Given the description of an element on the screen output the (x, y) to click on. 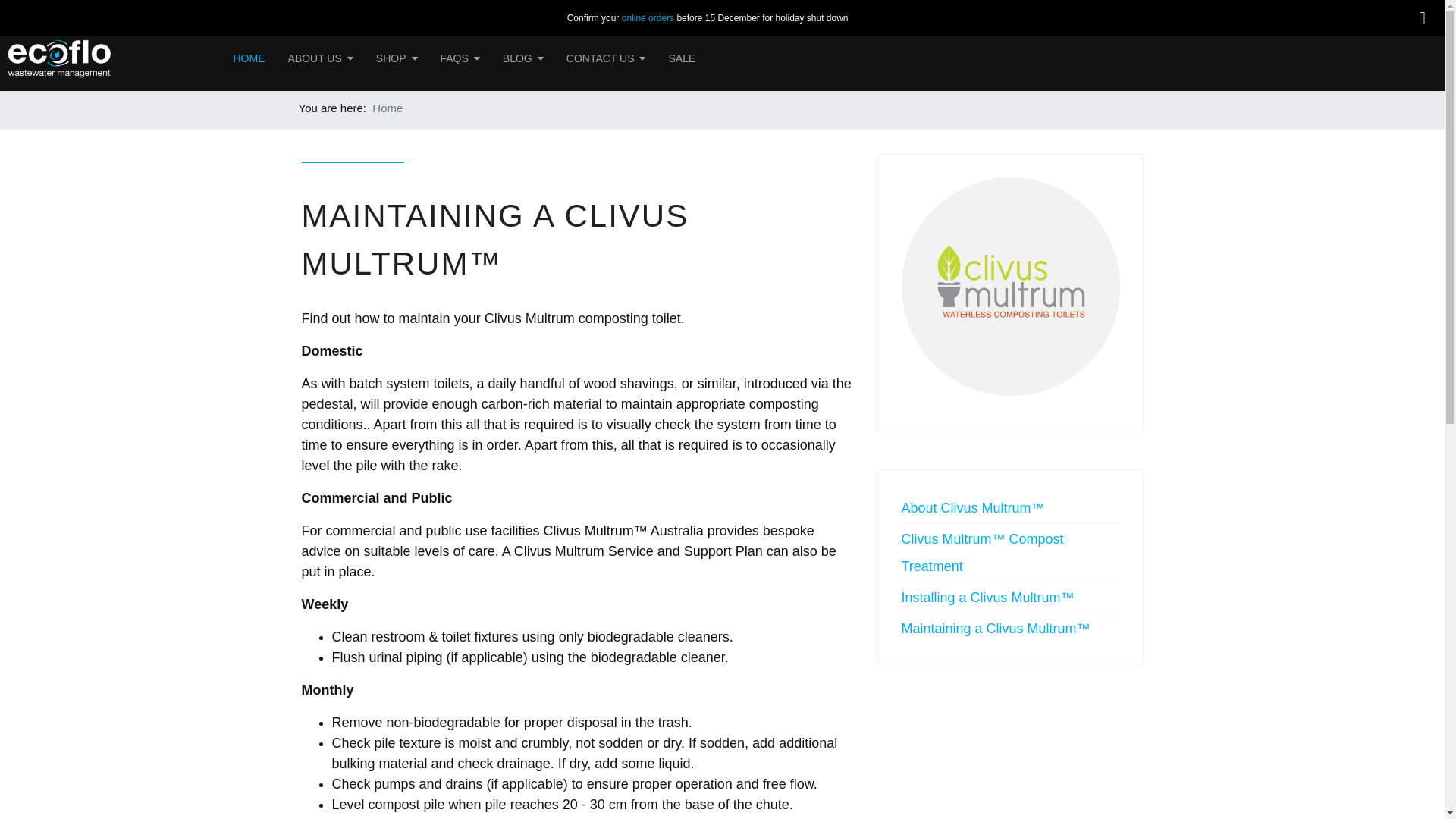
HOME Element type: text (248, 58)
online orders Element type: text (647, 17)
SALE Element type: text (681, 58)
SHOP Element type: text (396, 58)
BLOG Element type: text (523, 58)
CONTACT US Element type: text (606, 58)
ABOUT US Element type: text (320, 58)
FAQS Element type: text (460, 58)
